Given the description of an element on the screen output the (x, y) to click on. 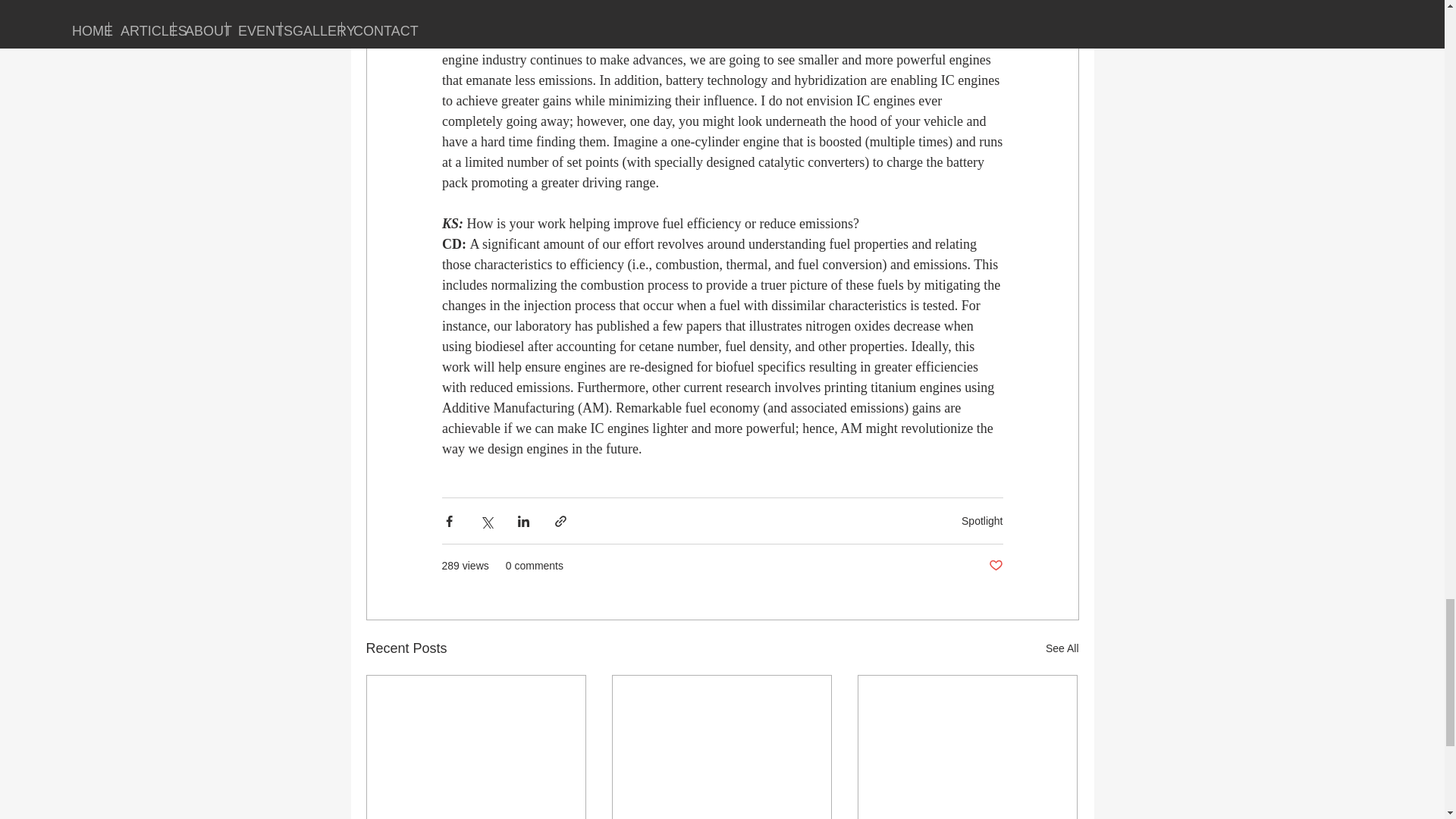
Spotlight: Leonardo Pachano (476, 817)
Post not marked as liked (995, 565)
See All (1061, 649)
Spotlight (981, 521)
Spotlight: Gina Magnotti (721, 817)
